Given the description of an element on the screen output the (x, y) to click on. 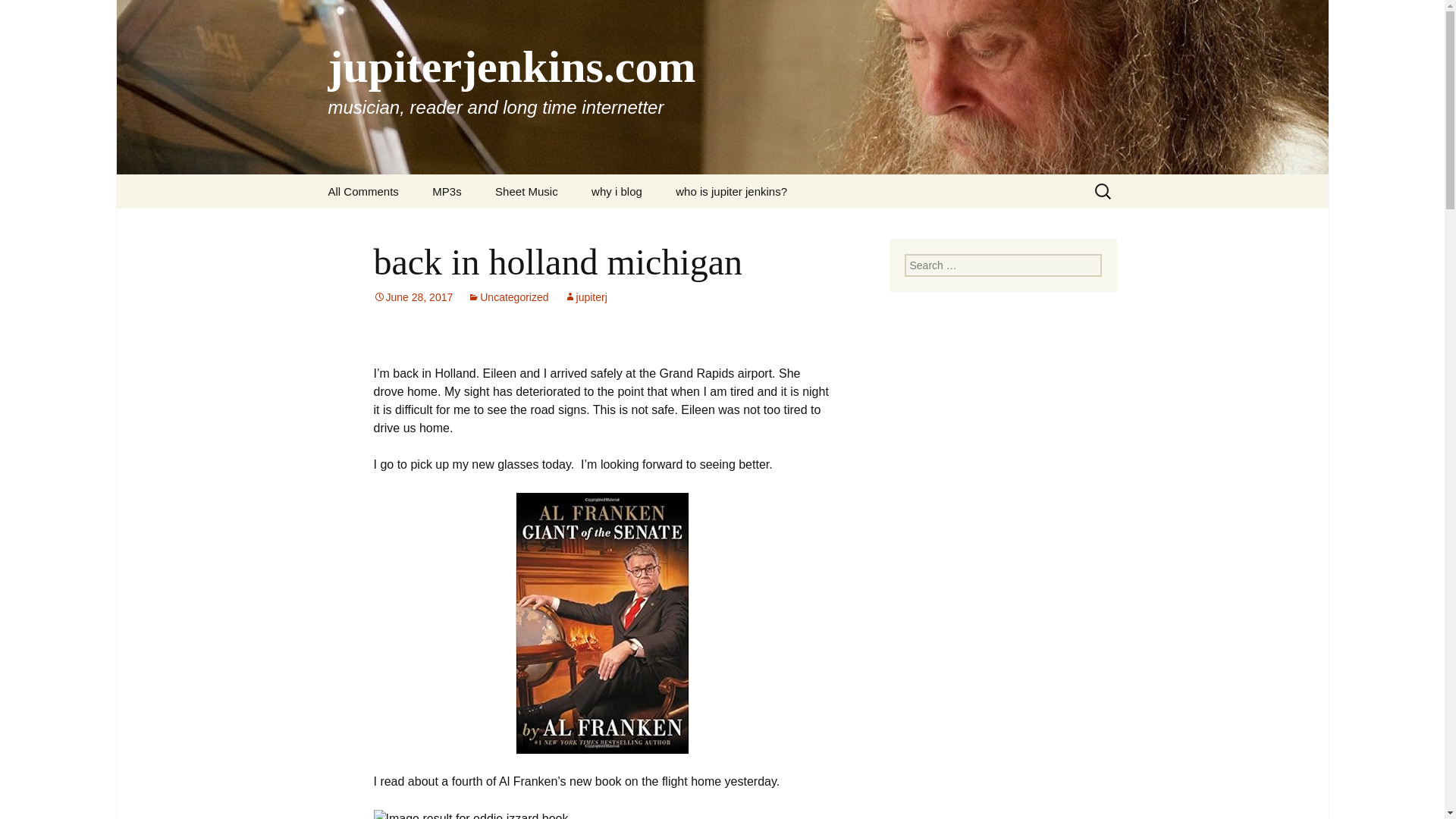
June 28, 2017 (412, 297)
Permalink to back in holland michigan (412, 297)
why i blog (617, 191)
Search (18, 15)
All Comments (363, 191)
Search (34, 15)
who is jupiter jenkins? (731, 191)
MP3s (446, 191)
Uncategorized (507, 297)
Sheet Music (526, 191)
View all posts by jupiterj (585, 297)
